Given the description of an element on the screen output the (x, y) to click on. 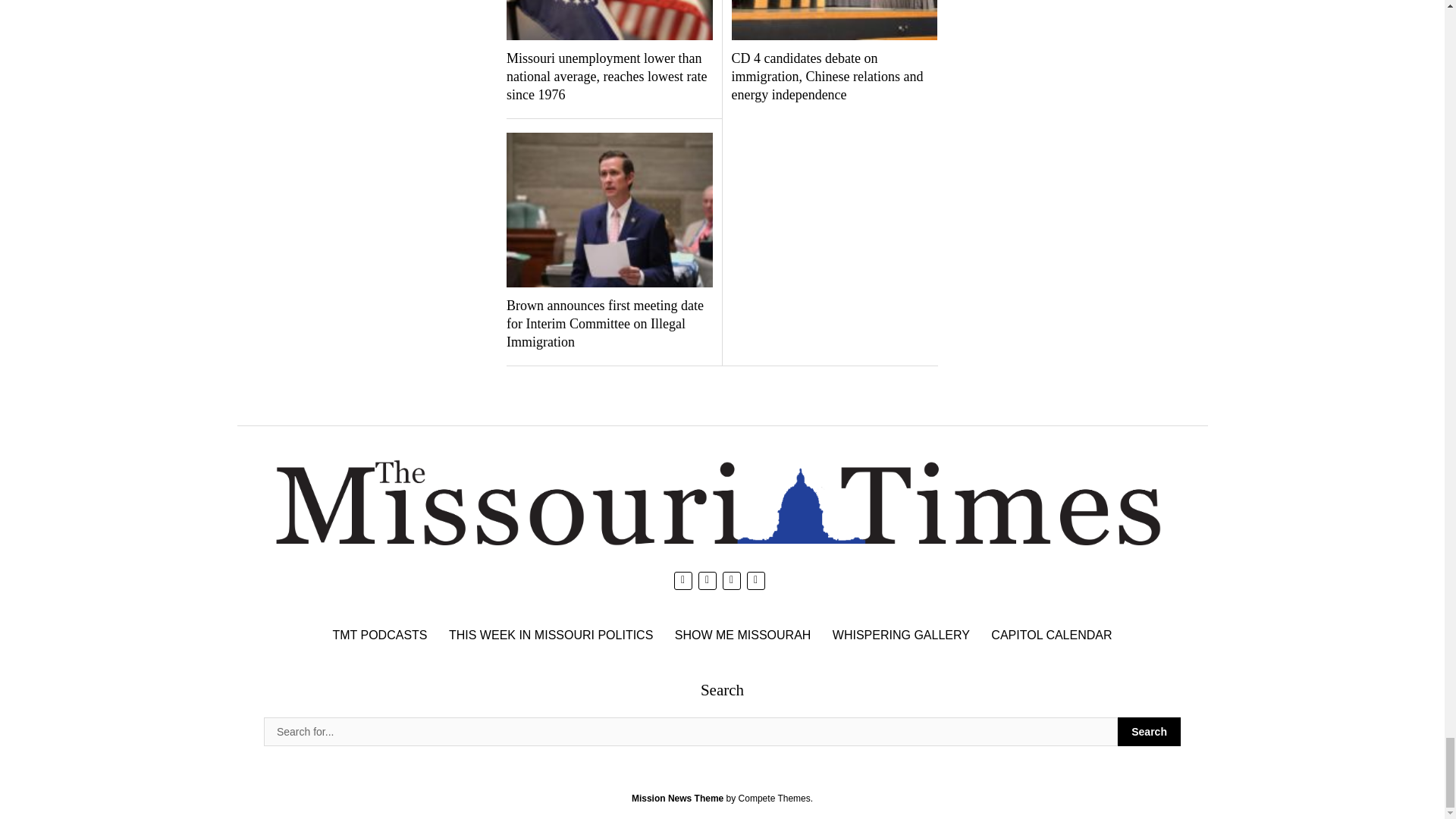
instagram (731, 579)
Search (690, 731)
Search (1149, 731)
Search (1149, 731)
facebook (706, 579)
